Given the description of an element on the screen output the (x, y) to click on. 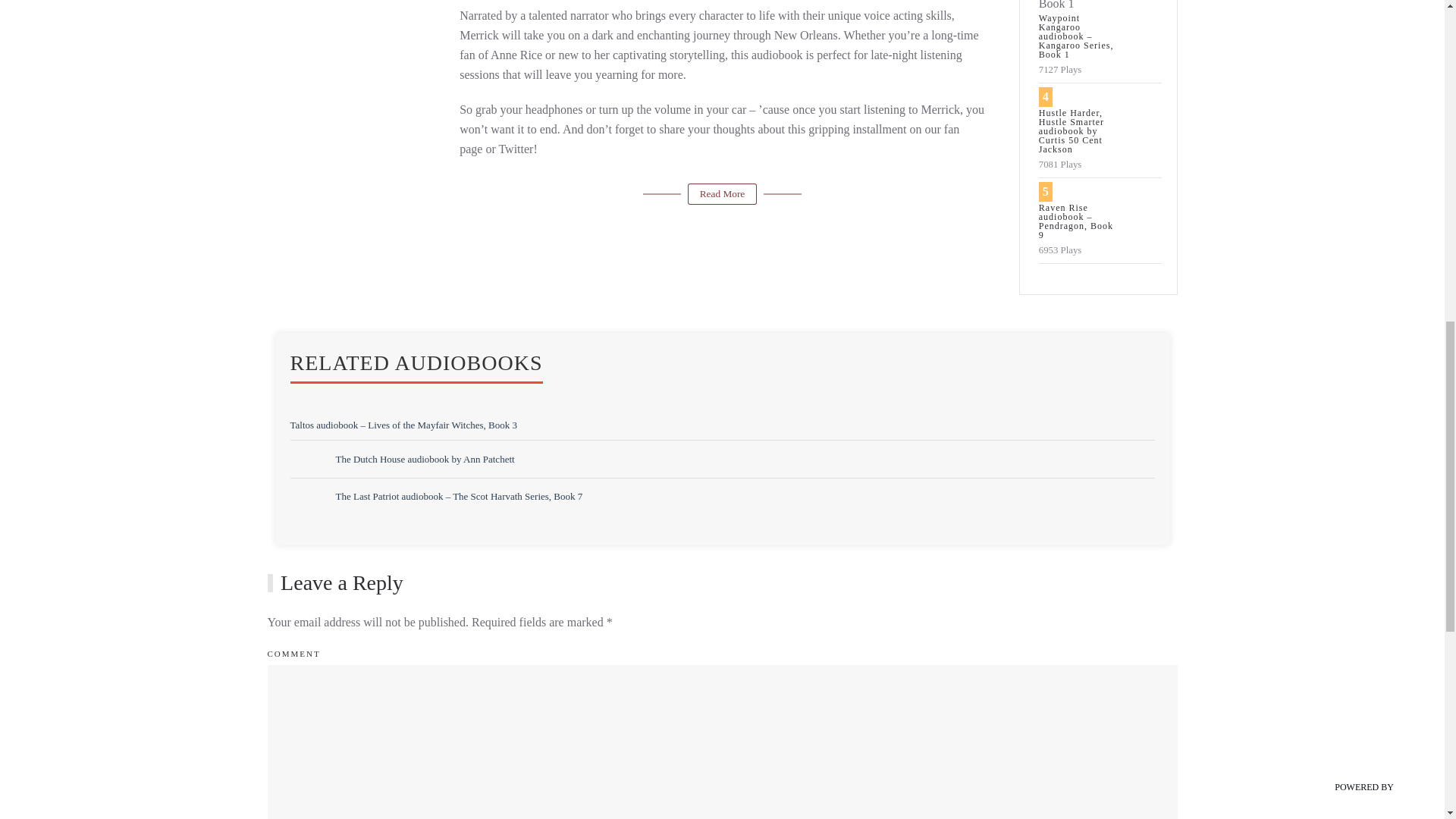
The Dutch House audiobook by Ann Patchett (423, 459)
Read More (722, 193)
